Given the description of an element on the screen output the (x, y) to click on. 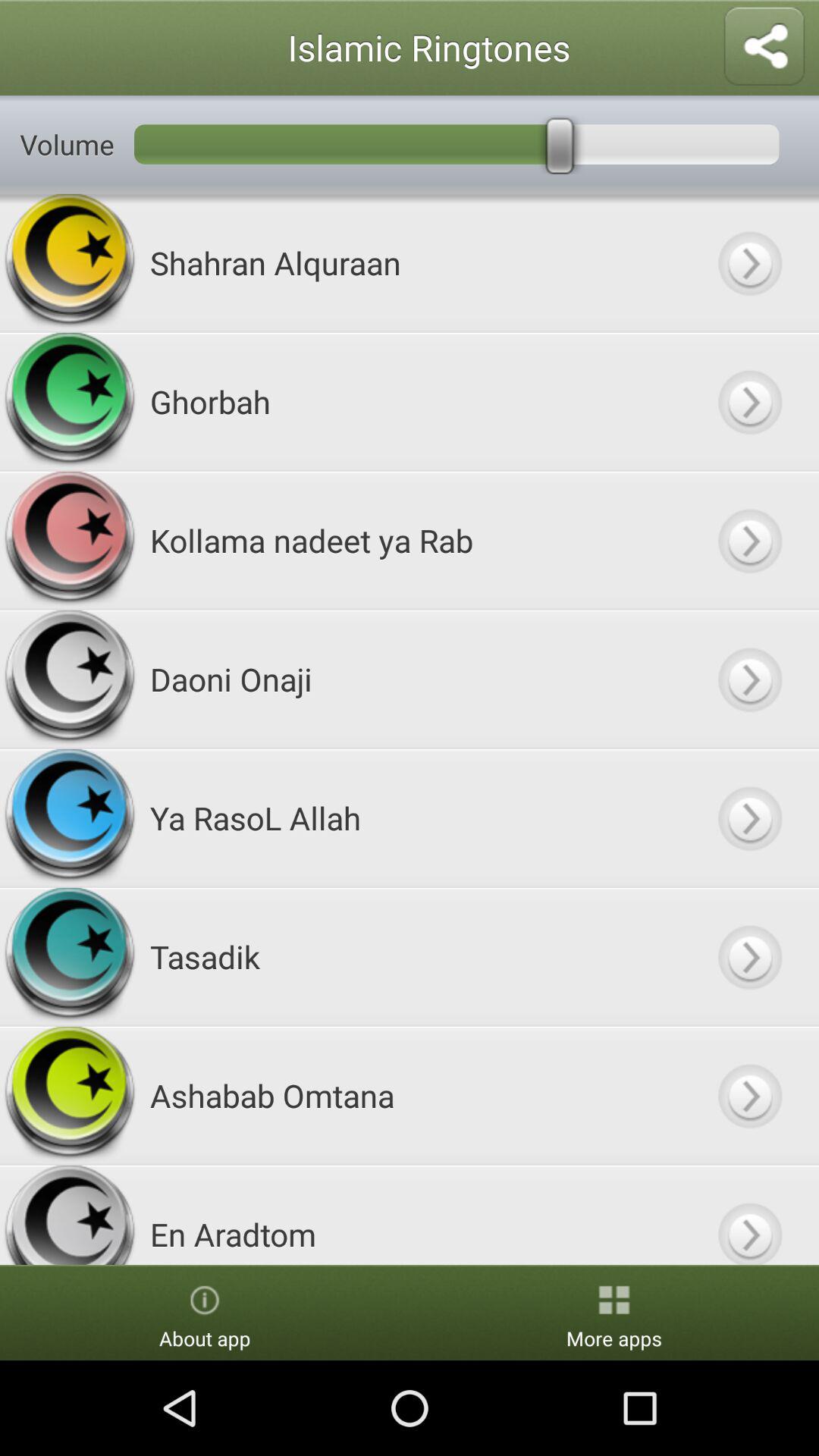
play button (749, 401)
